Given the description of an element on the screen output the (x, y) to click on. 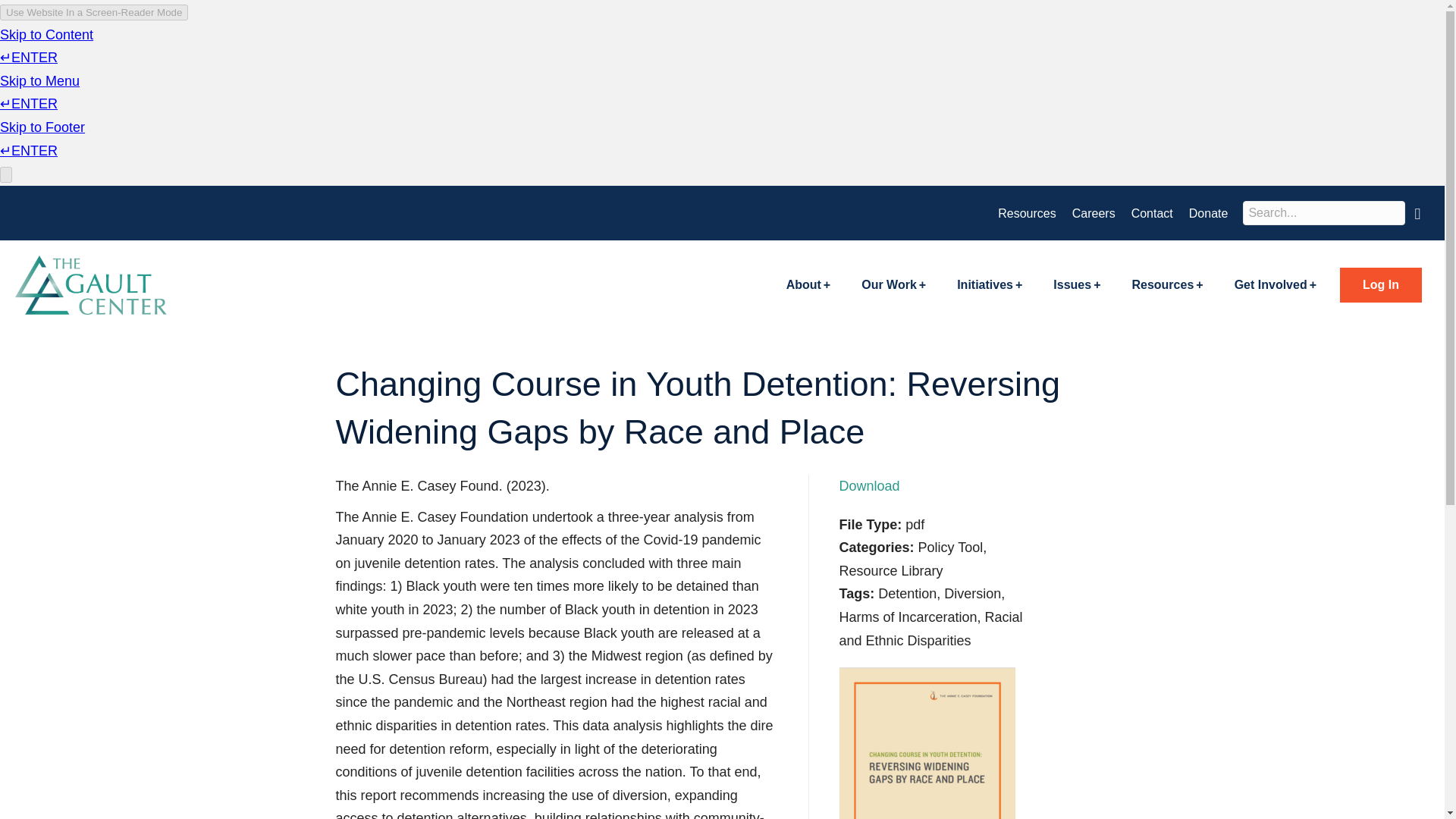
Initiatives (989, 284)
Resources (1166, 284)
Donate (1208, 213)
Resources (1026, 213)
Contact (1152, 213)
About (808, 284)
Get Involved (1275, 284)
Careers (1093, 213)
Our Work (893, 284)
Issues (1076, 284)
